Given the description of an element on the screen output the (x, y) to click on. 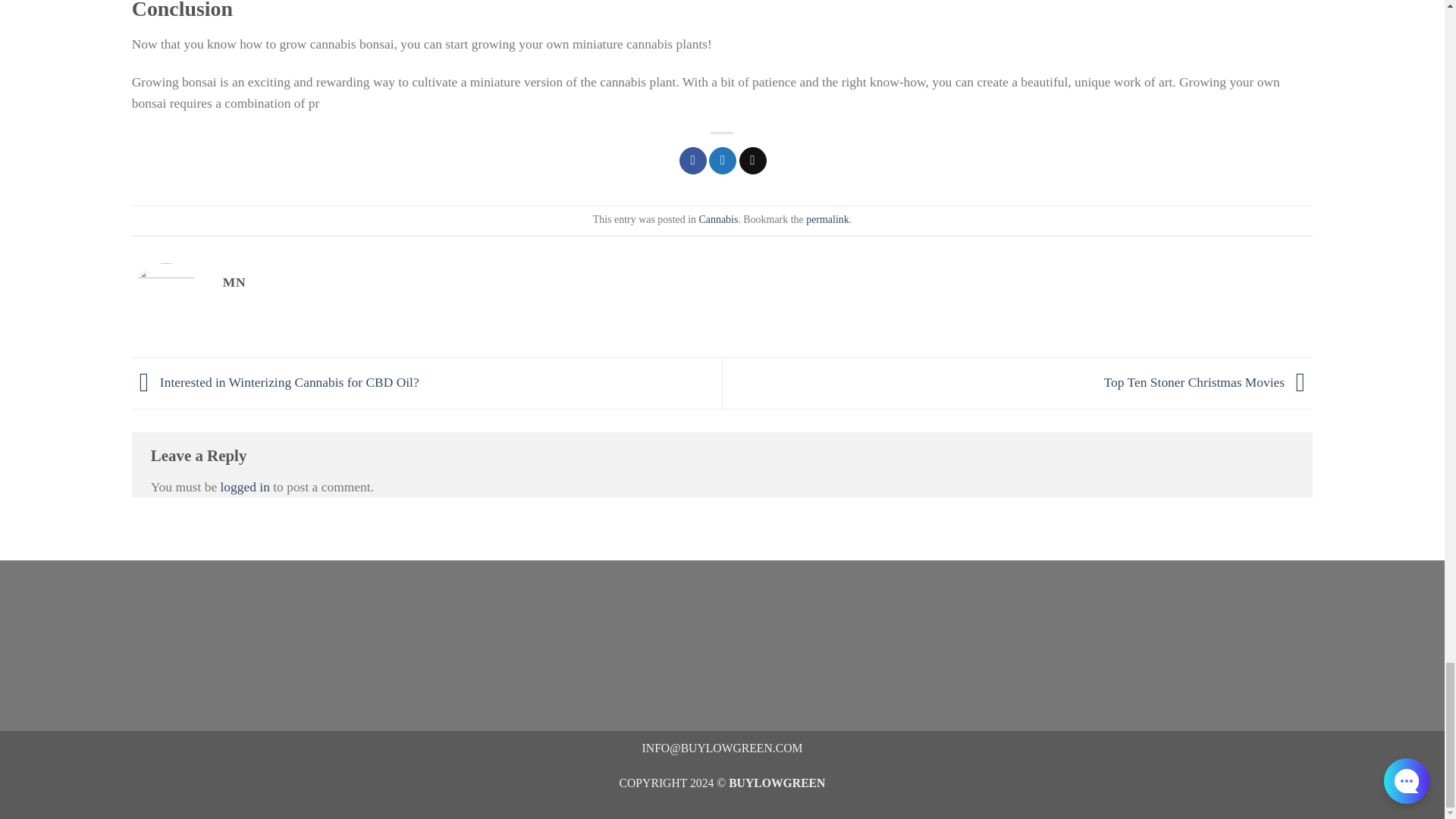
Permalink to The Art of Cannabis Bonsai (827, 219)
